Given the description of an element on the screen output the (x, y) to click on. 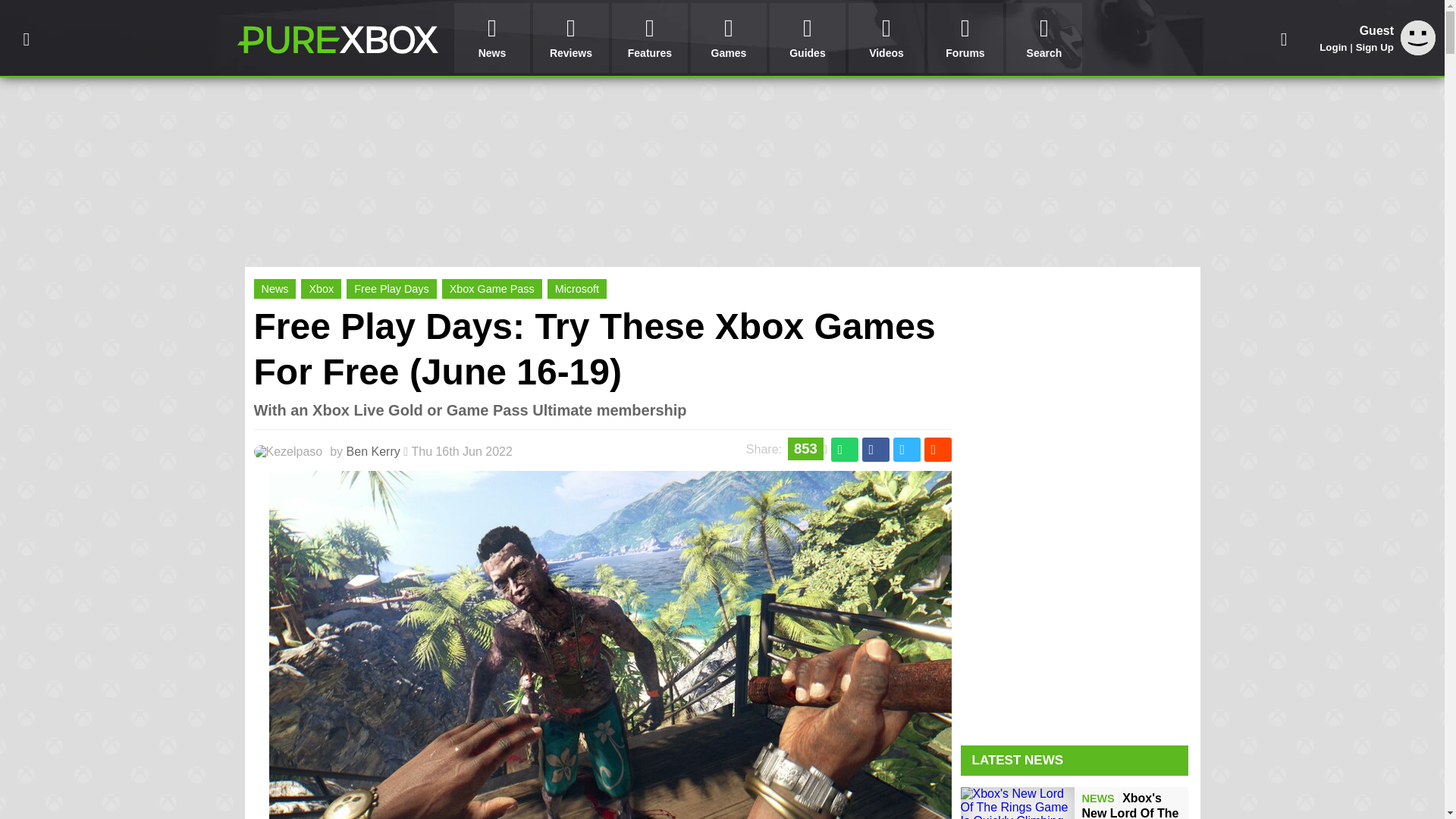
Xbox Game Pass (491, 288)
Guides (807, 37)
Xbox (320, 288)
Share this on Facebook (874, 449)
Games (728, 37)
Ben Kerry (373, 451)
Share This Page (1283, 37)
Login (1332, 47)
Microsoft (577, 288)
Guest (1417, 37)
